Given the description of an element on the screen output the (x, y) to click on. 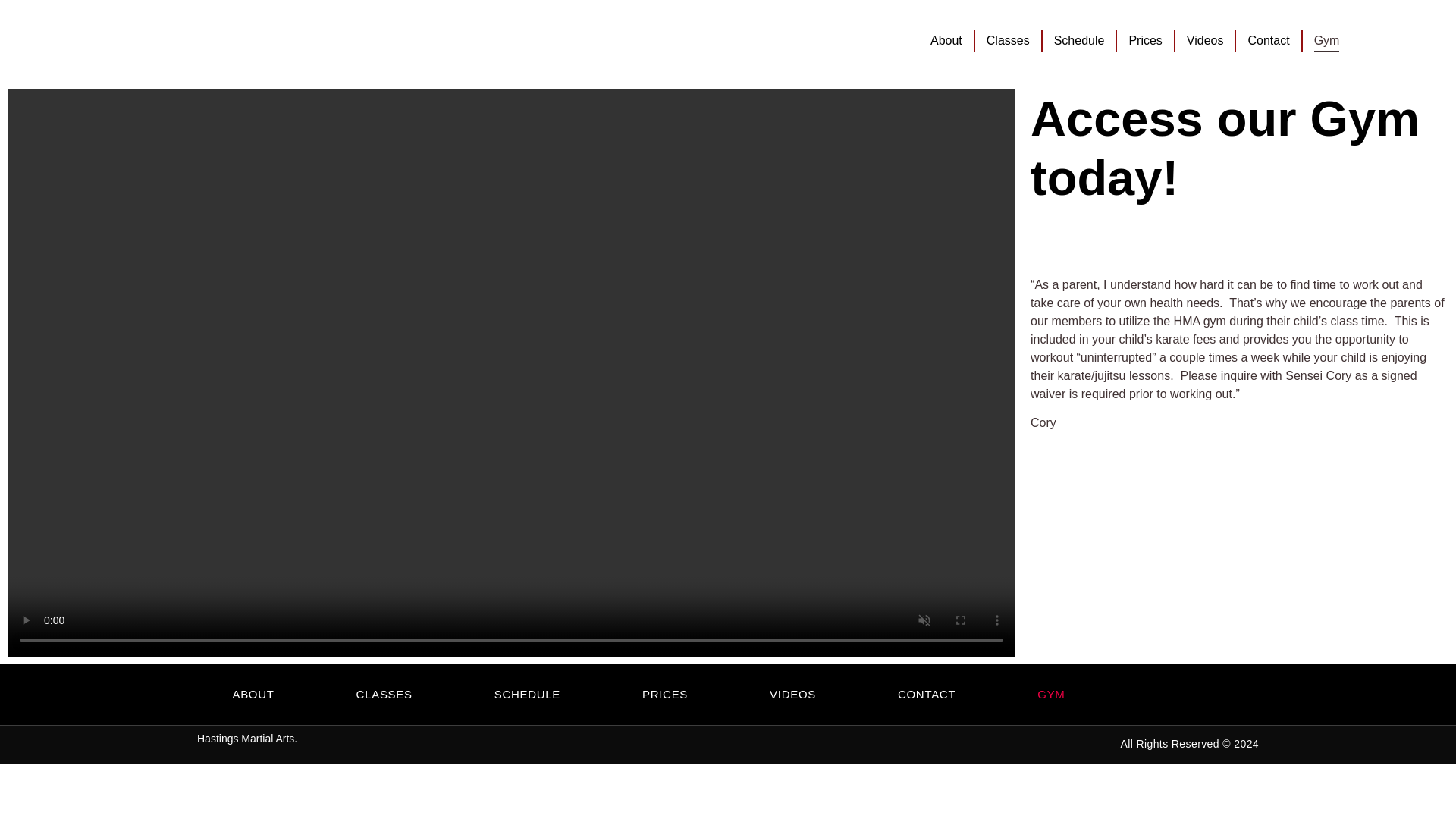
Classes (1008, 40)
CLASSES (383, 694)
ABOUT (252, 694)
Gym (1326, 40)
Contact (1267, 40)
PRICES (664, 694)
Videos (1205, 40)
CONTACT (926, 694)
Prices (1144, 40)
About (946, 40)
Schedule (1079, 40)
VIDEOS (792, 694)
GYM (1050, 694)
SCHEDULE (527, 694)
